Given the description of an element on the screen output the (x, y) to click on. 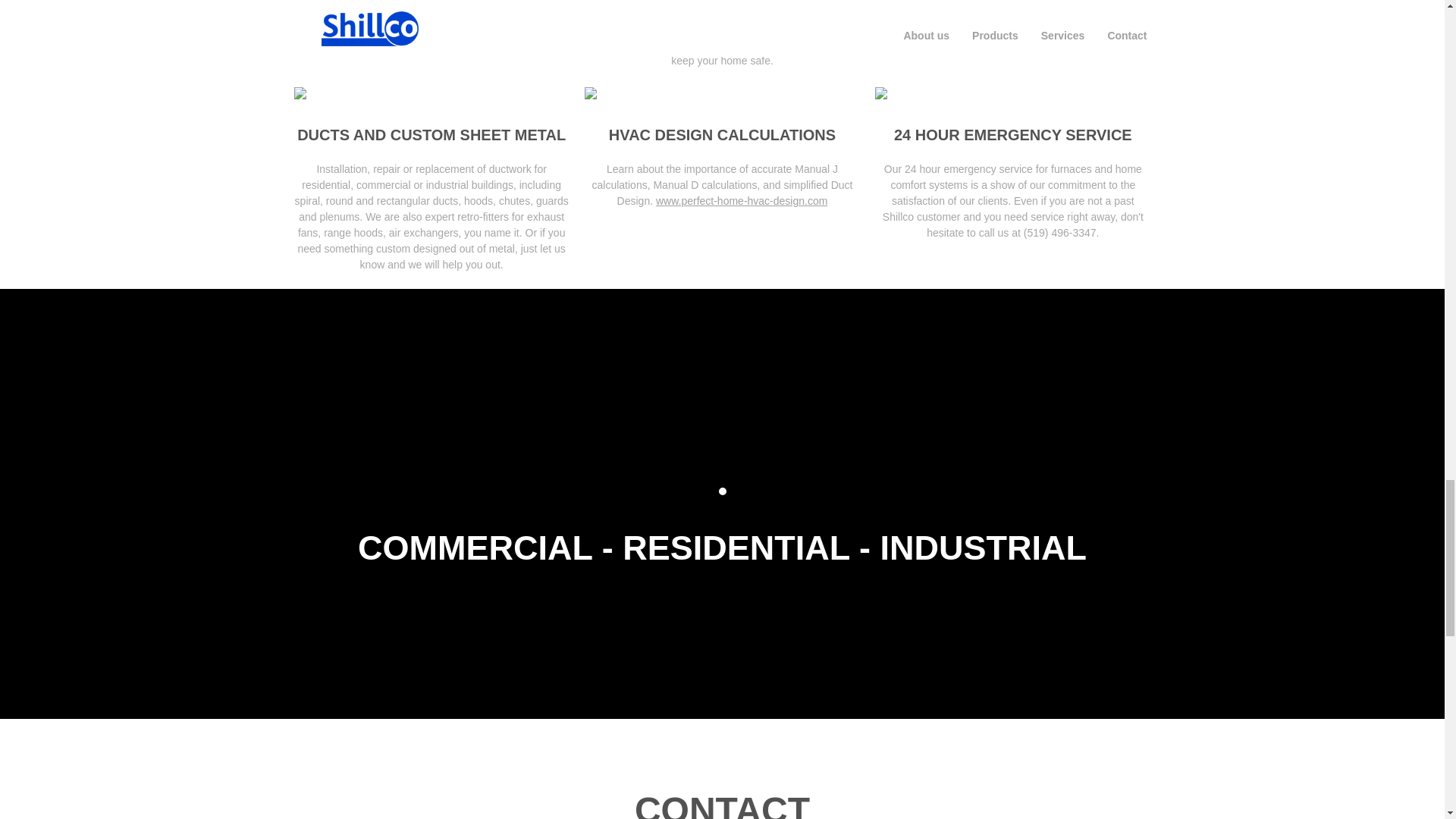
DUCTS AND CUSTOM SHEET METAL (431, 134)
24 HOUR EMERGENCY SERVICE (1012, 134)
HVAC DESIGN CALCULATIONS (721, 134)
www.perfect-home-hvac-design.com (741, 200)
